Given the description of an element on the screen output the (x, y) to click on. 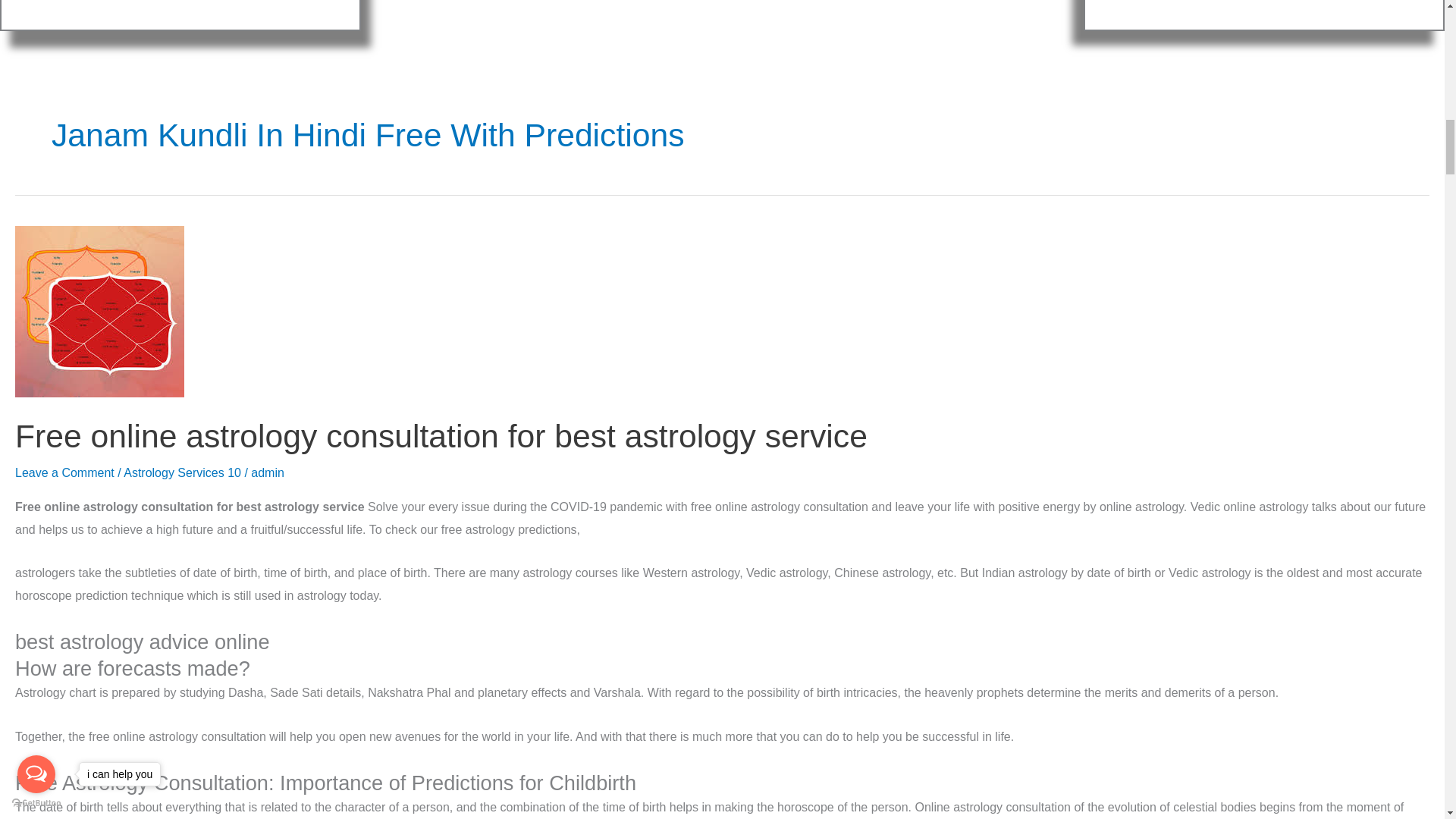
admin (266, 472)
View all posts by admin (266, 472)
Leave a Comment (64, 472)
Astrology Services 10 (182, 472)
